Given the description of an element on the screen output the (x, y) to click on. 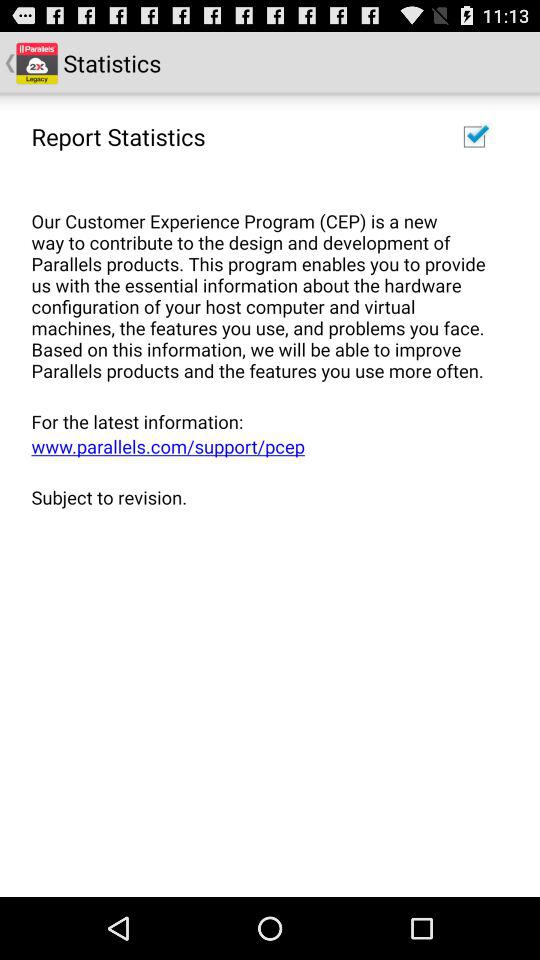
flip until the for the latest app (263, 421)
